Given the description of an element on the screen output the (x, y) to click on. 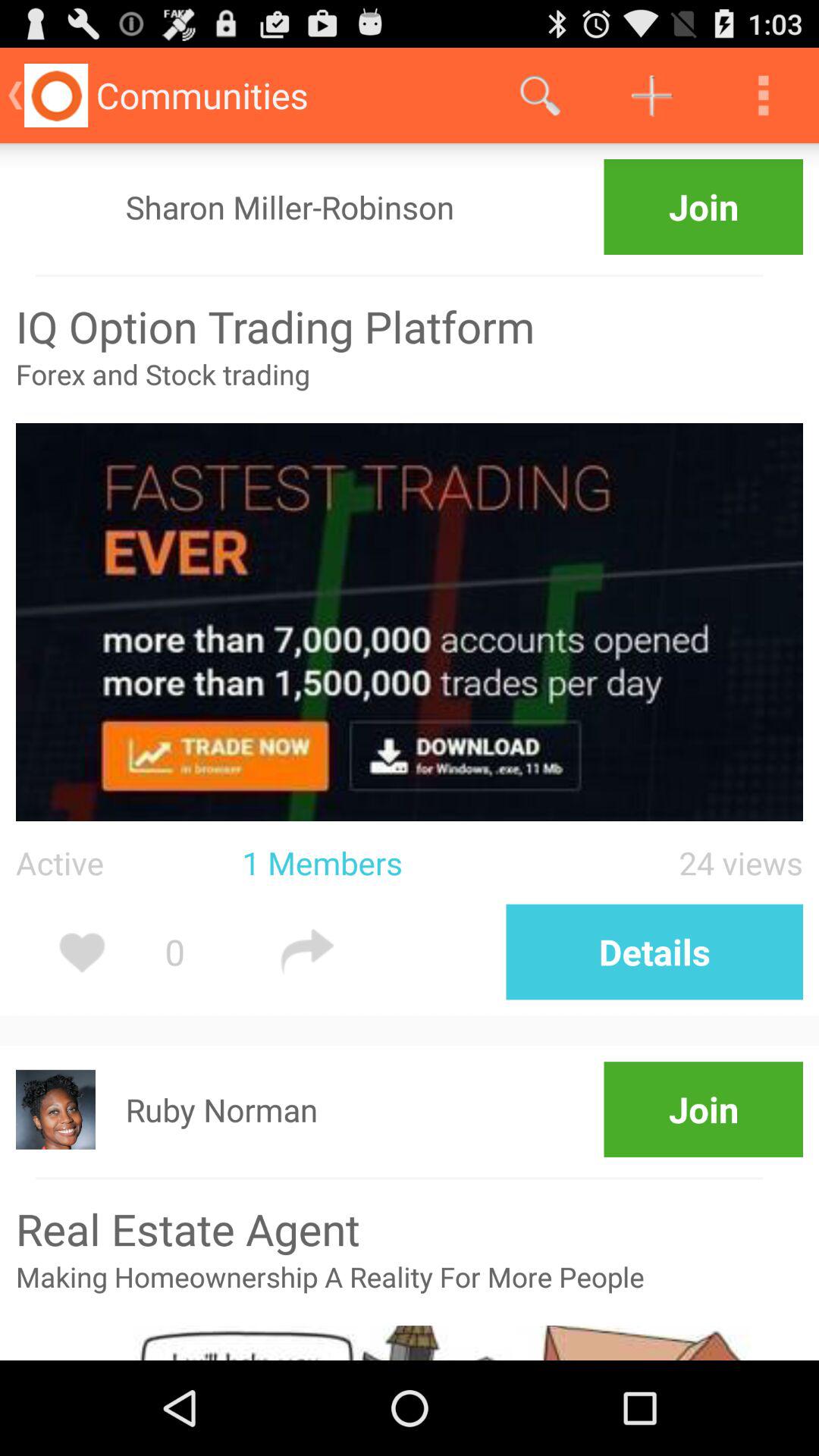
turn off icon above real estate agent item (399, 1178)
